Given the description of an element on the screen output the (x, y) to click on. 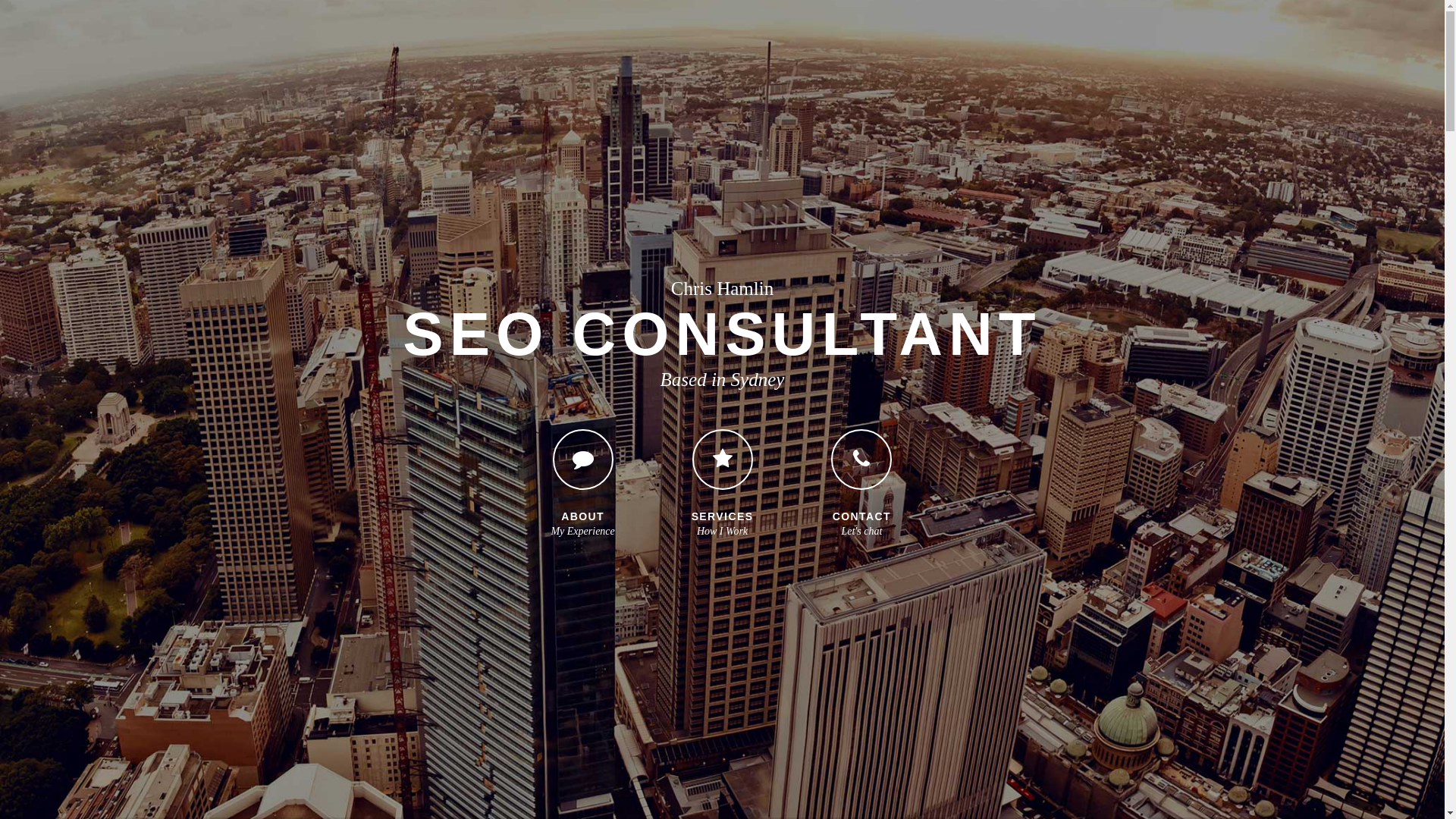
ABOUT
My Experience Element type: text (582, 474)
SERVICES
How I Work Element type: text (722, 474)
CONTACT
Let's chat Element type: text (861, 474)
